Given the description of an element on the screen output the (x, y) to click on. 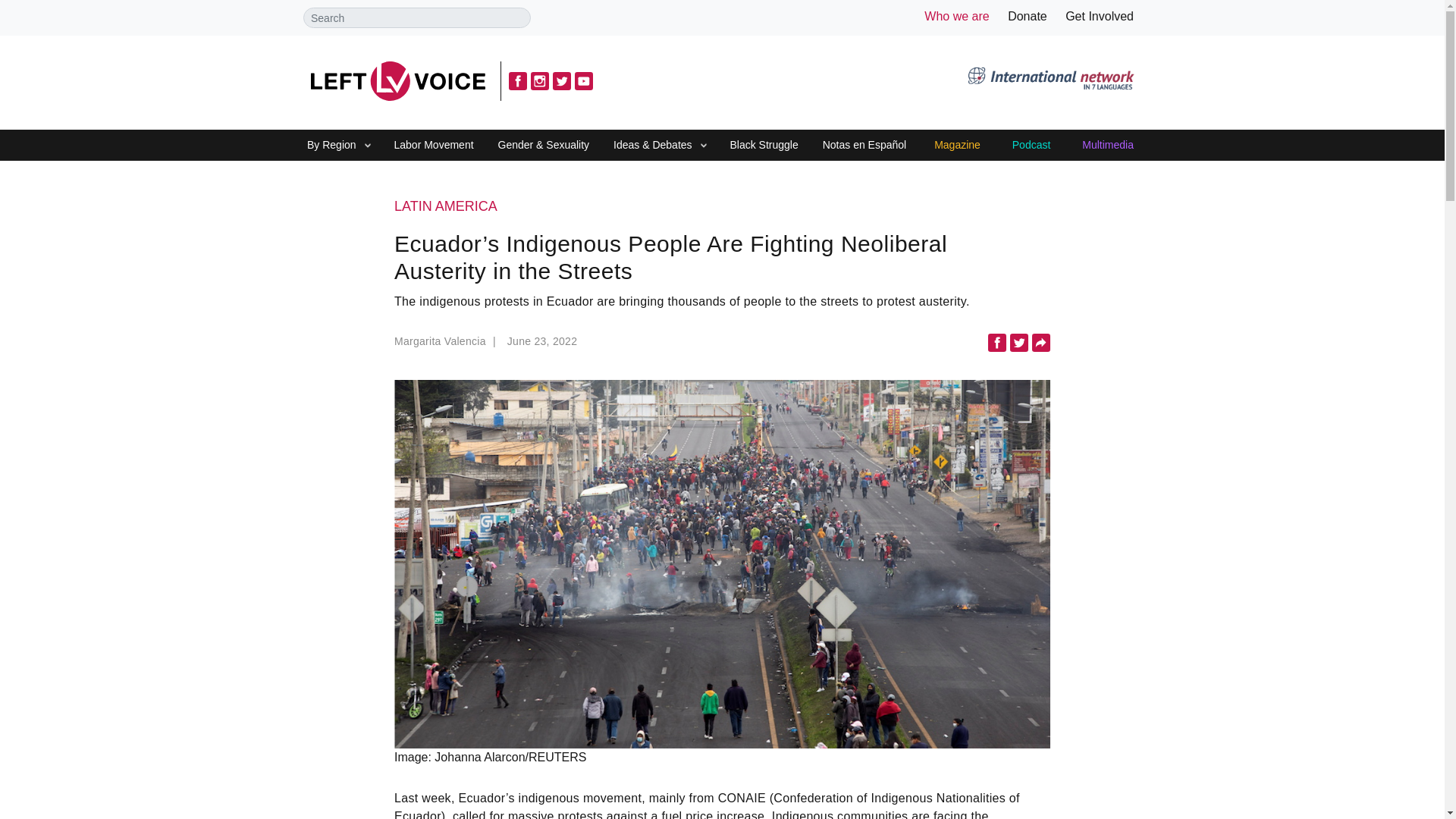
Black Struggle (763, 145)
International Network (1050, 80)
Magazine (957, 145)
Who we are (956, 15)
Labor Movement (433, 145)
LATIN AMERICA (721, 207)
Margarita Valencia (446, 345)
Podcast (1031, 145)
Donate (1027, 15)
Get Involved (1099, 15)
